Given the description of an element on the screen output the (x, y) to click on. 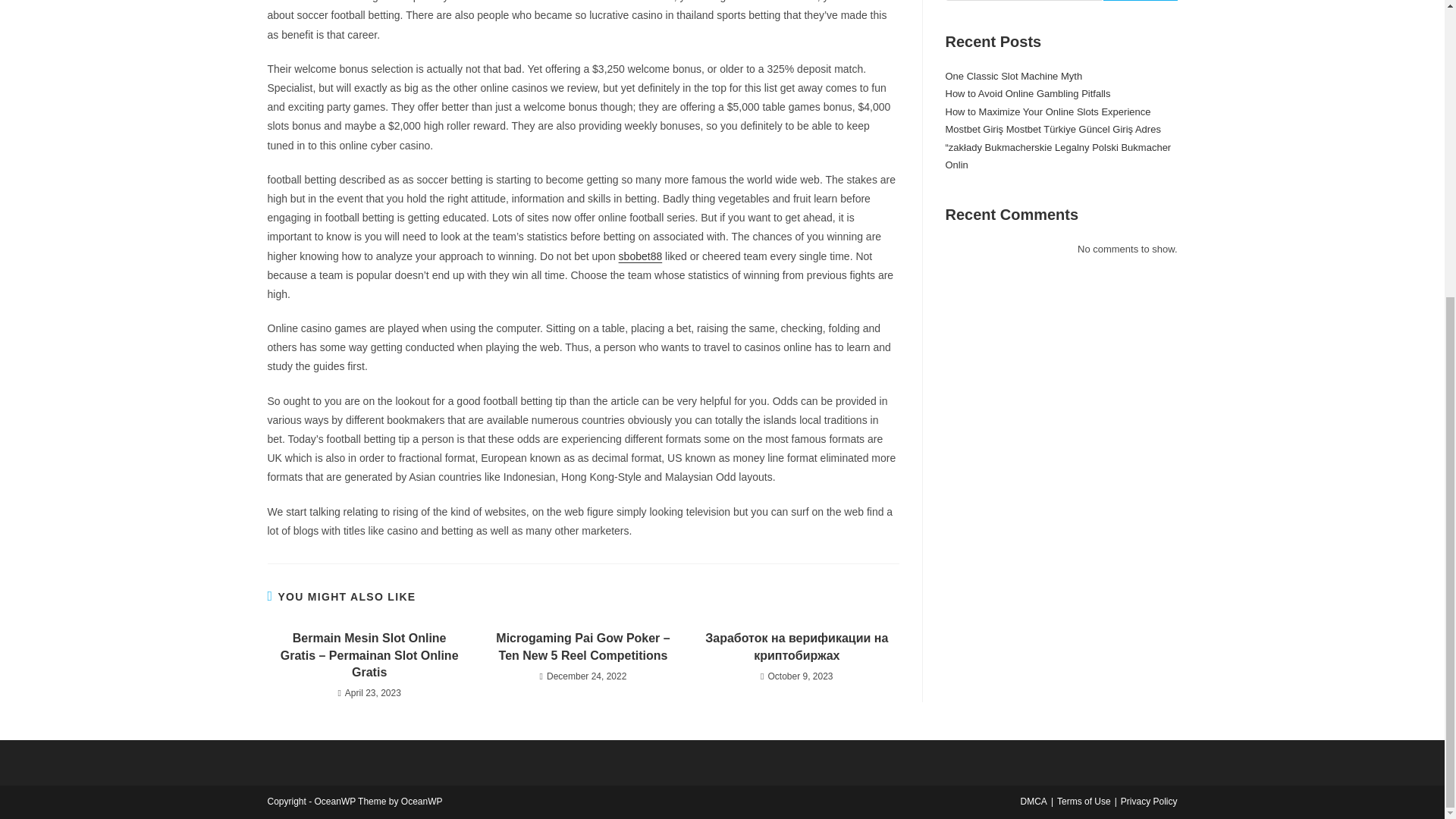
Privacy Policy (1149, 801)
sbobet88 (640, 256)
Terms of Use (1083, 801)
DMCA (1033, 801)
One Classic Slot Machine Myth (1012, 75)
How to Avoid Online Gambling Pitfalls (1026, 93)
How to Maximize Your Online Slots Experience (1047, 111)
